Given the description of an element on the screen output the (x, y) to click on. 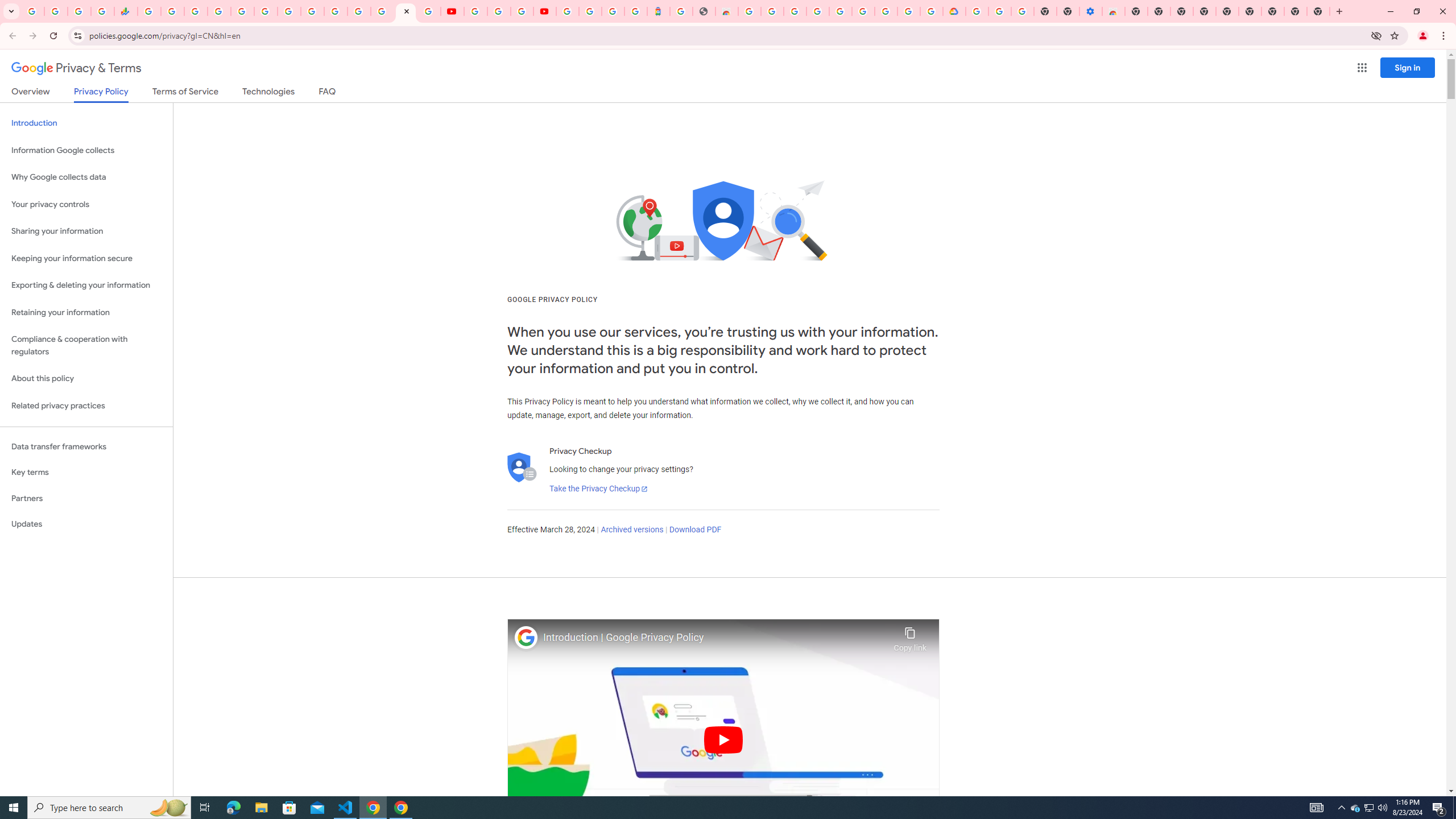
Key terms (86, 472)
Photo image of Google (526, 636)
Chrome Web Store - Household (727, 11)
Chrome Web Store - Accessibility extensions (1113, 11)
YouTube (475, 11)
Take the Privacy Checkup (597, 488)
Create your Google Account (772, 11)
Google Workspace Admin Community (32, 11)
